Given the description of an element on the screen output the (x, y) to click on. 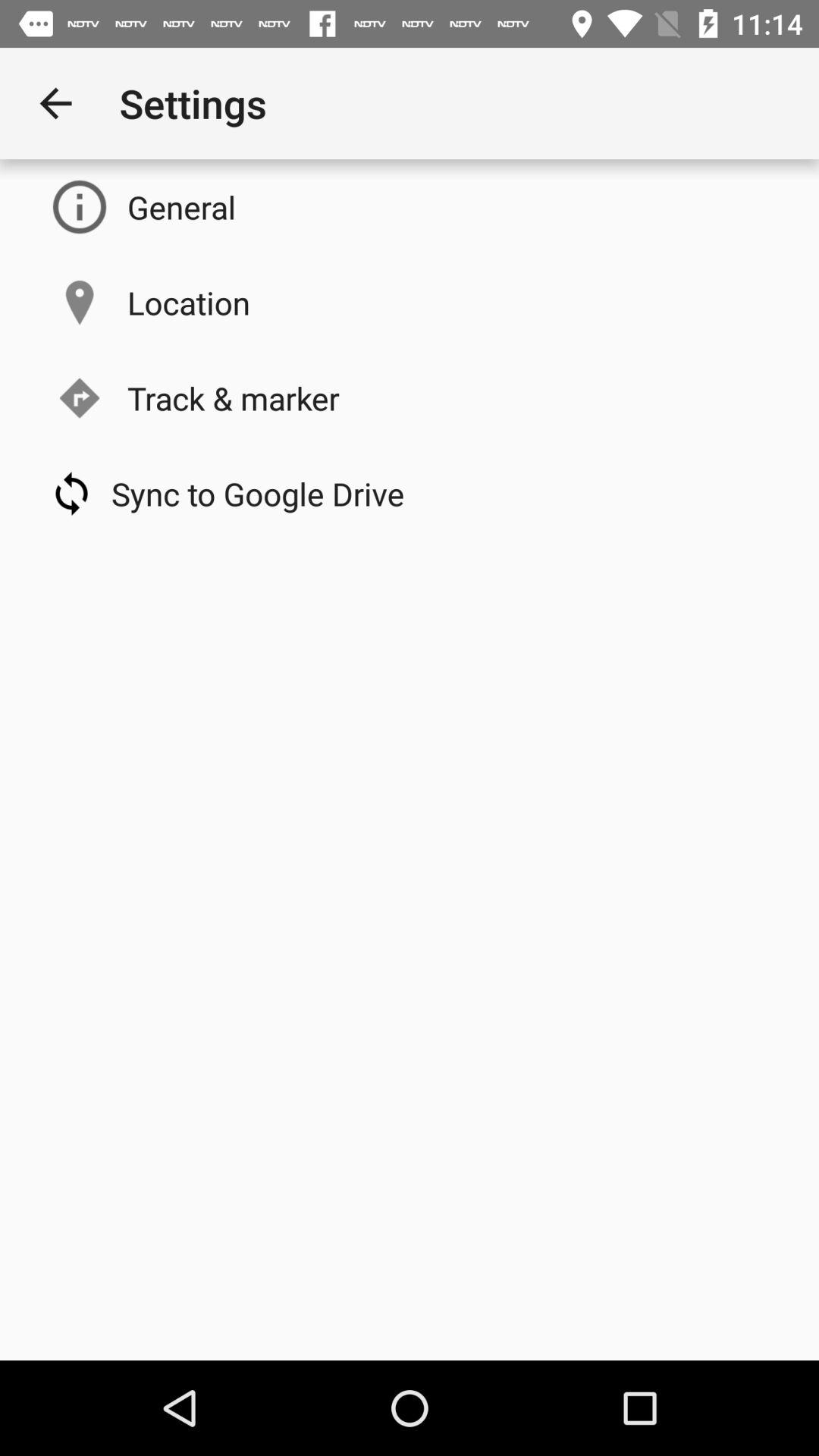
turn off location item (188, 302)
